Given the description of an element on the screen output the (x, y) to click on. 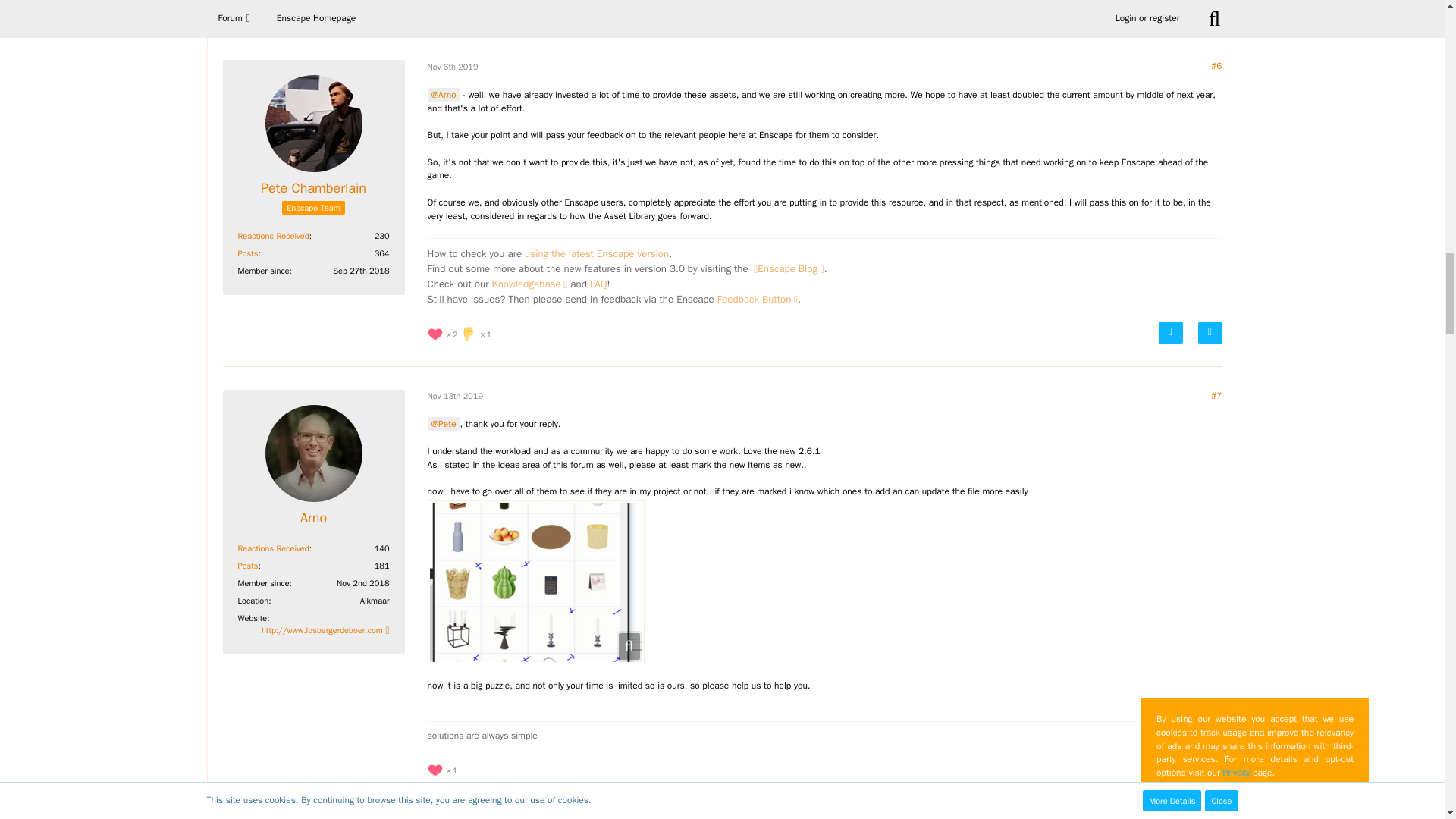
pasted-from-clipboard.png (536, 582)
